Given the description of an element on the screen output the (x, y) to click on. 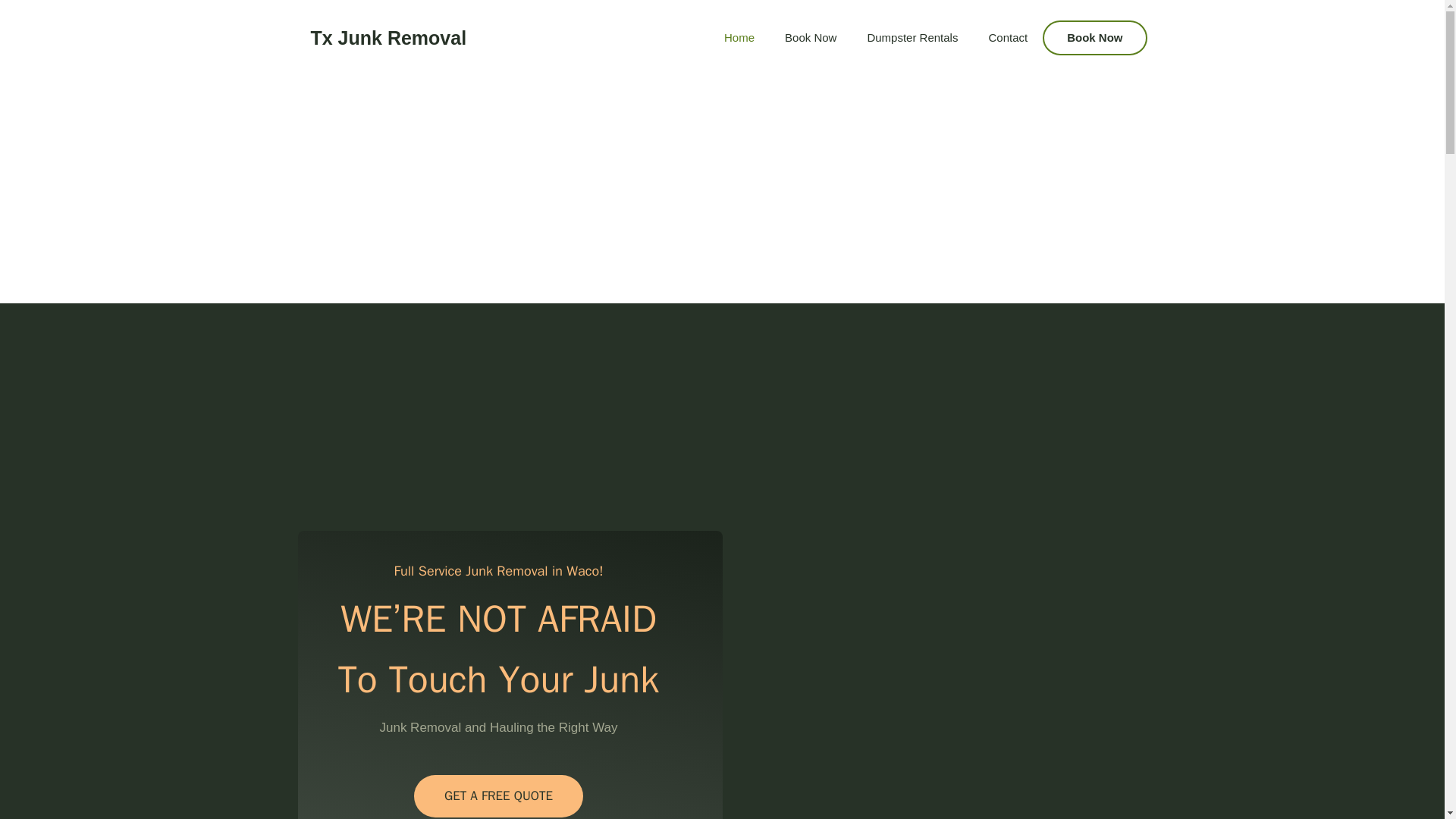
Contact (1007, 37)
Dumpster Rentals (911, 37)
Book Now (1094, 38)
Tx Junk Removal (389, 37)
Book Now (810, 37)
Home (739, 37)
GET A FREE QUOTE (498, 795)
